Given the description of an element on the screen output the (x, y) to click on. 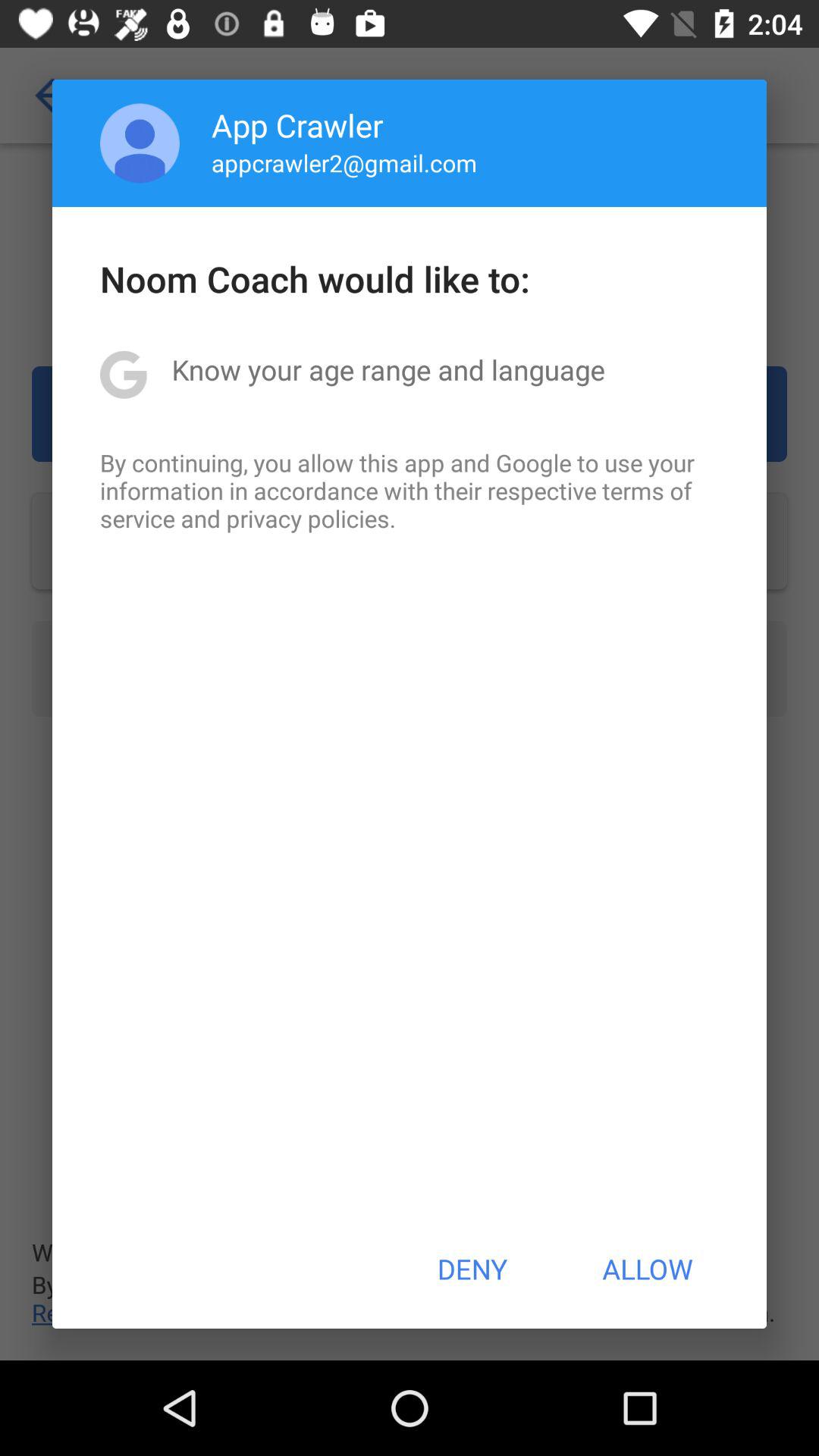
press app crawler app (297, 124)
